Given the description of an element on the screen output the (x, y) to click on. 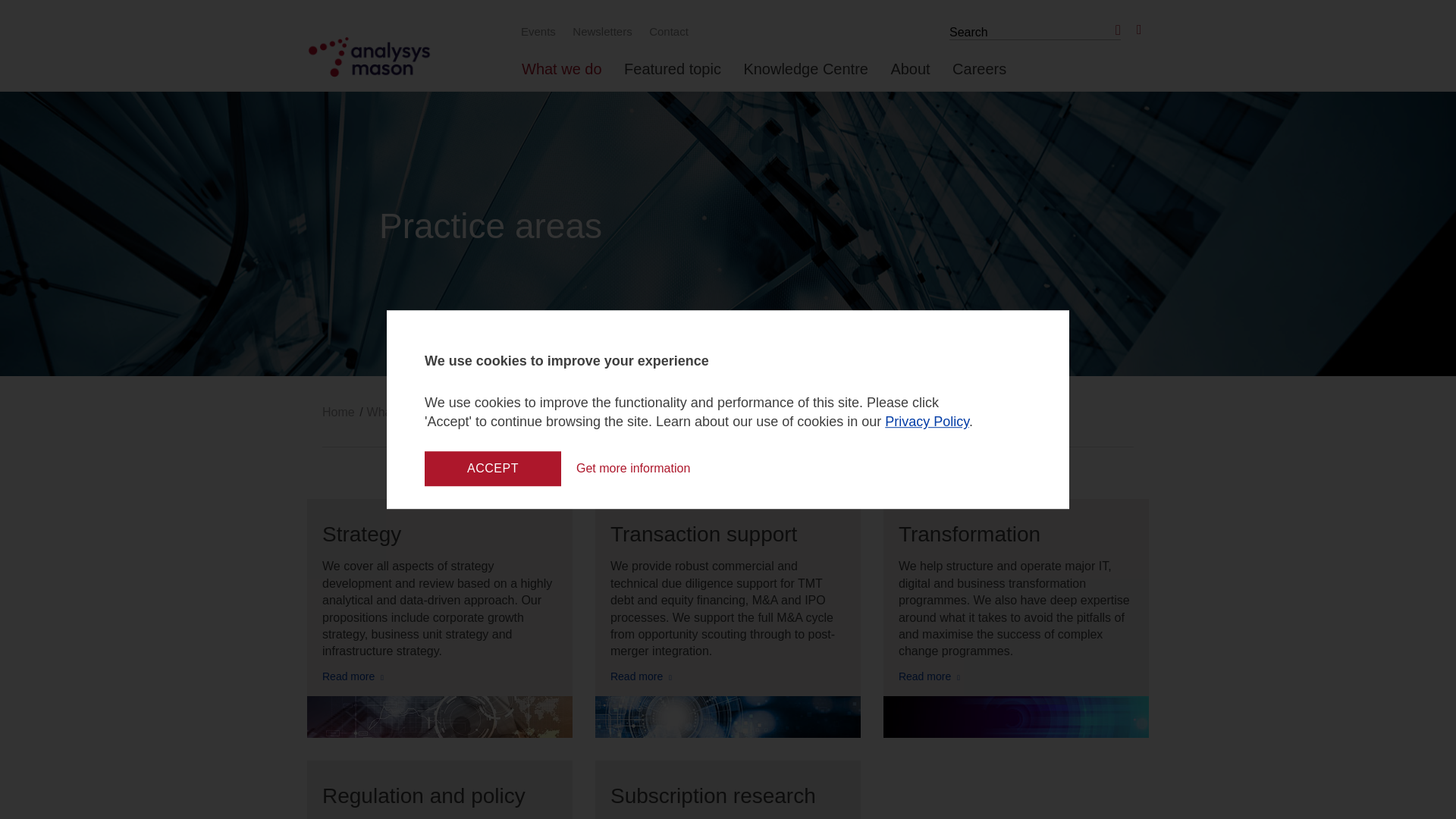
What we do (561, 75)
Contact (666, 31)
Events (536, 31)
Search (1115, 29)
Featured topic (672, 75)
Privacy Policy (927, 421)
Careers (978, 75)
About (909, 75)
Knowledge Centre (805, 75)
Newsletters (599, 31)
